Given the description of an element on the screen output the (x, y) to click on. 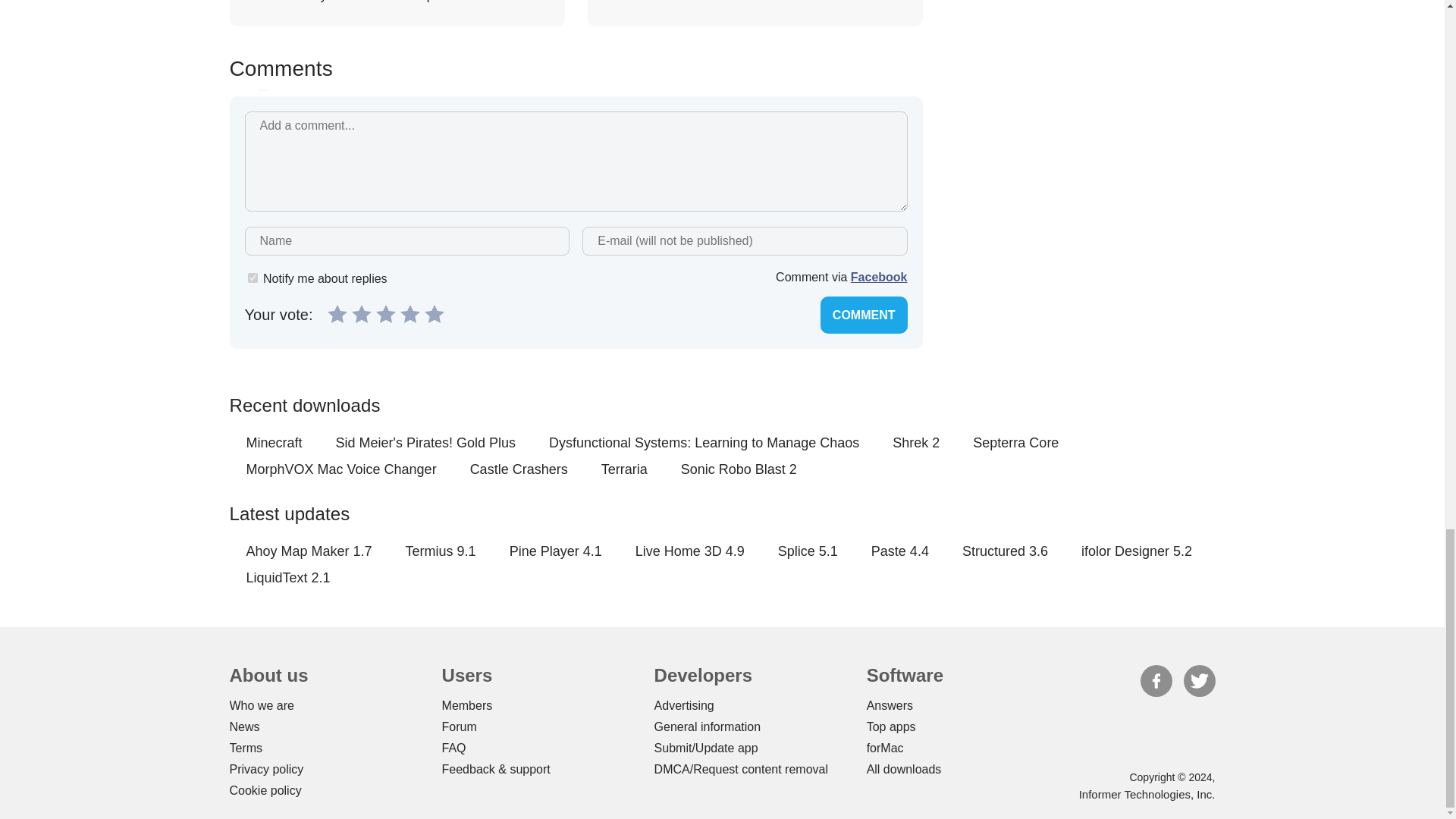
1 (252, 277)
4 (409, 313)
1 (336, 313)
Comment (864, 314)
3 (385, 313)
5 (434, 313)
Comment (864, 314)
2 (361, 313)
